Given the description of an element on the screen output the (x, y) to click on. 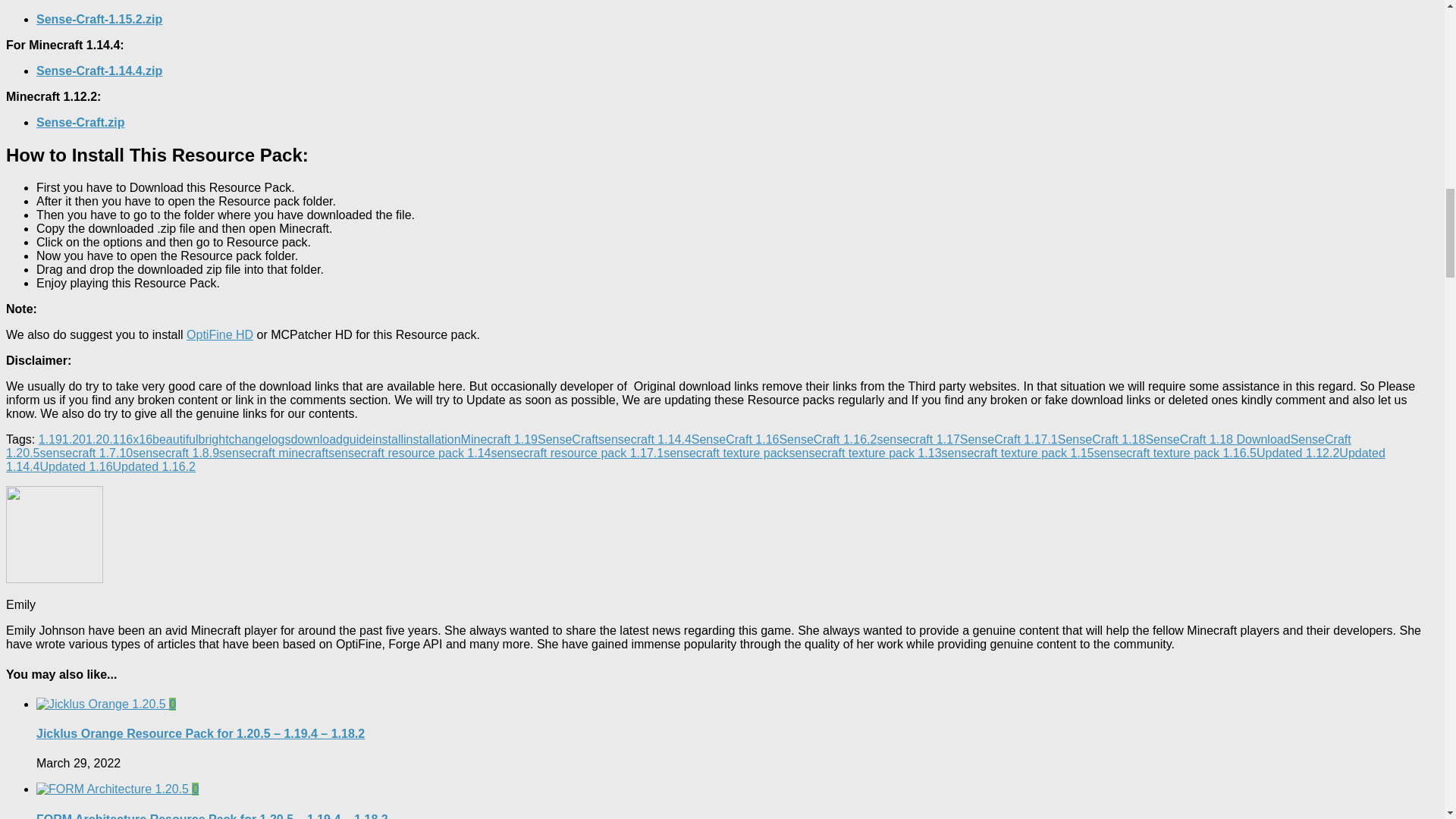
changelogs (259, 439)
guide (357, 439)
Sense-Craft-1.14.4.zip (98, 70)
1.19 (50, 439)
Minecraft 1.19 (499, 439)
OptiFine HD (219, 334)
Sense-Craft.zip (79, 122)
bright (213, 439)
Sense-Craft-1.15.2.zip (98, 19)
install (387, 439)
